Given the description of an element on the screen output the (x, y) to click on. 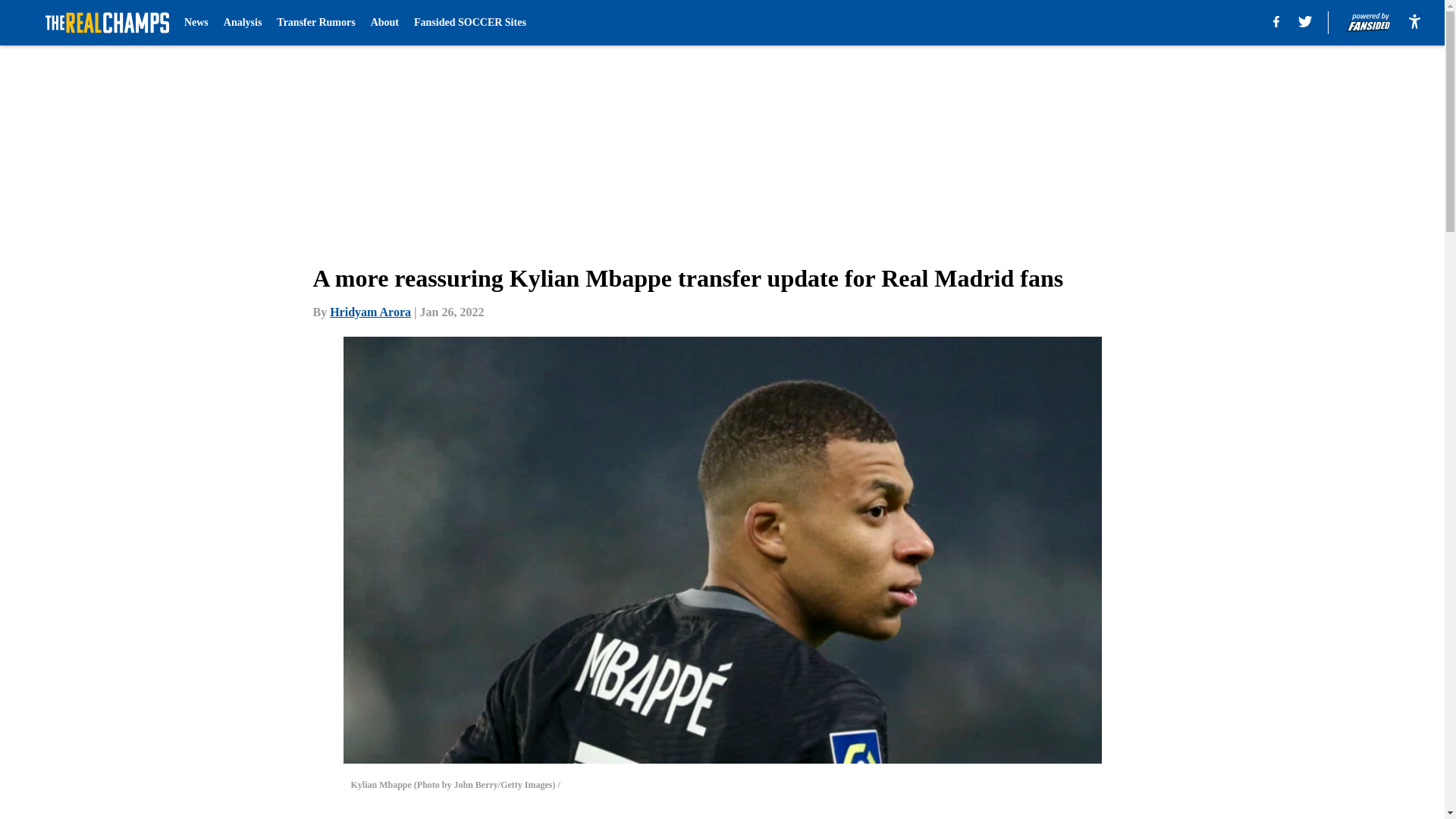
News (196, 22)
Analysis (243, 22)
Transfer Rumors (315, 22)
Hridyam Arora (370, 311)
Fansided SOCCER Sites (469, 22)
About (384, 22)
